Given the description of an element on the screen output the (x, y) to click on. 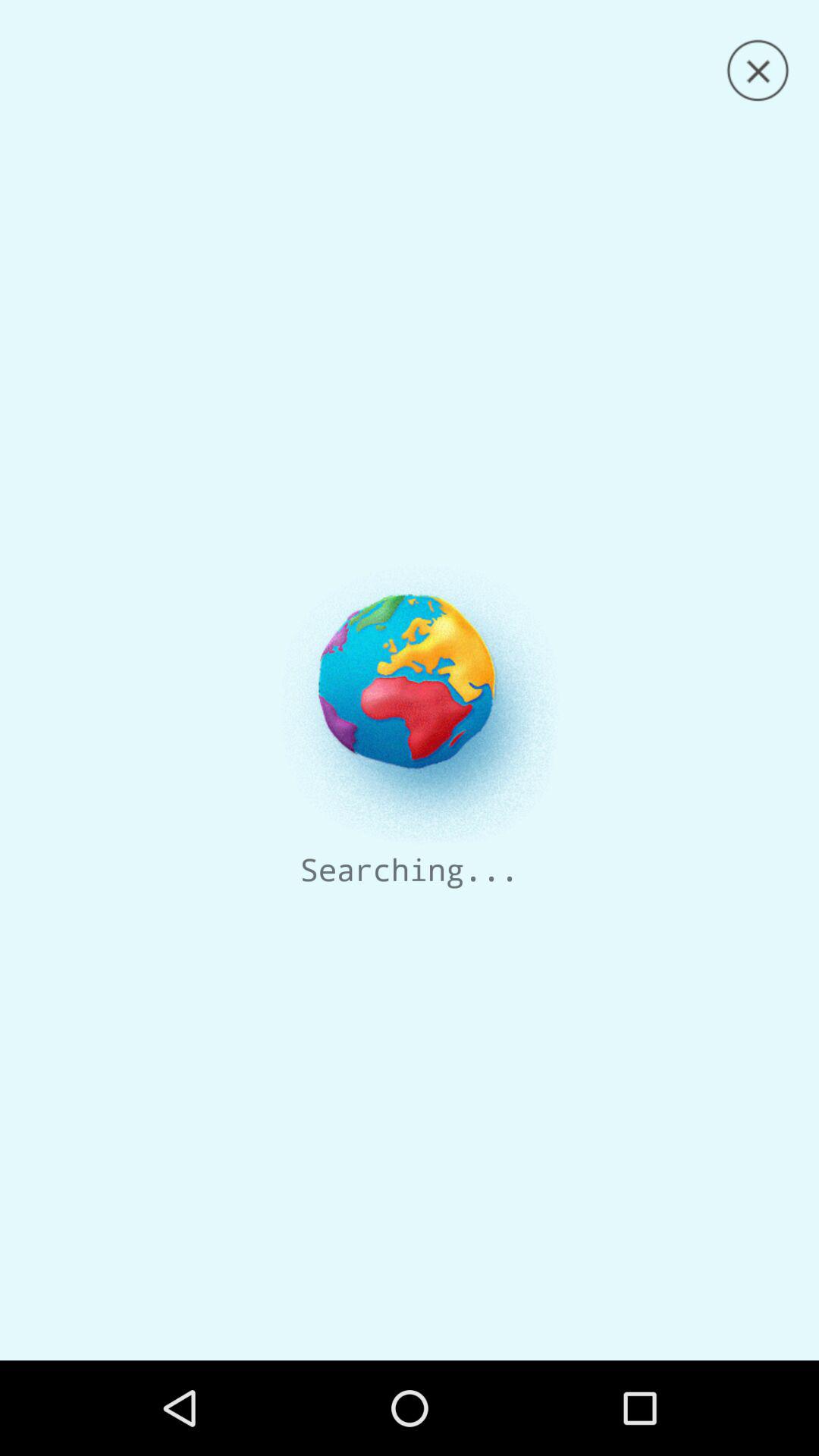
close (757, 70)
